Given the description of an element on the screen output the (x, y) to click on. 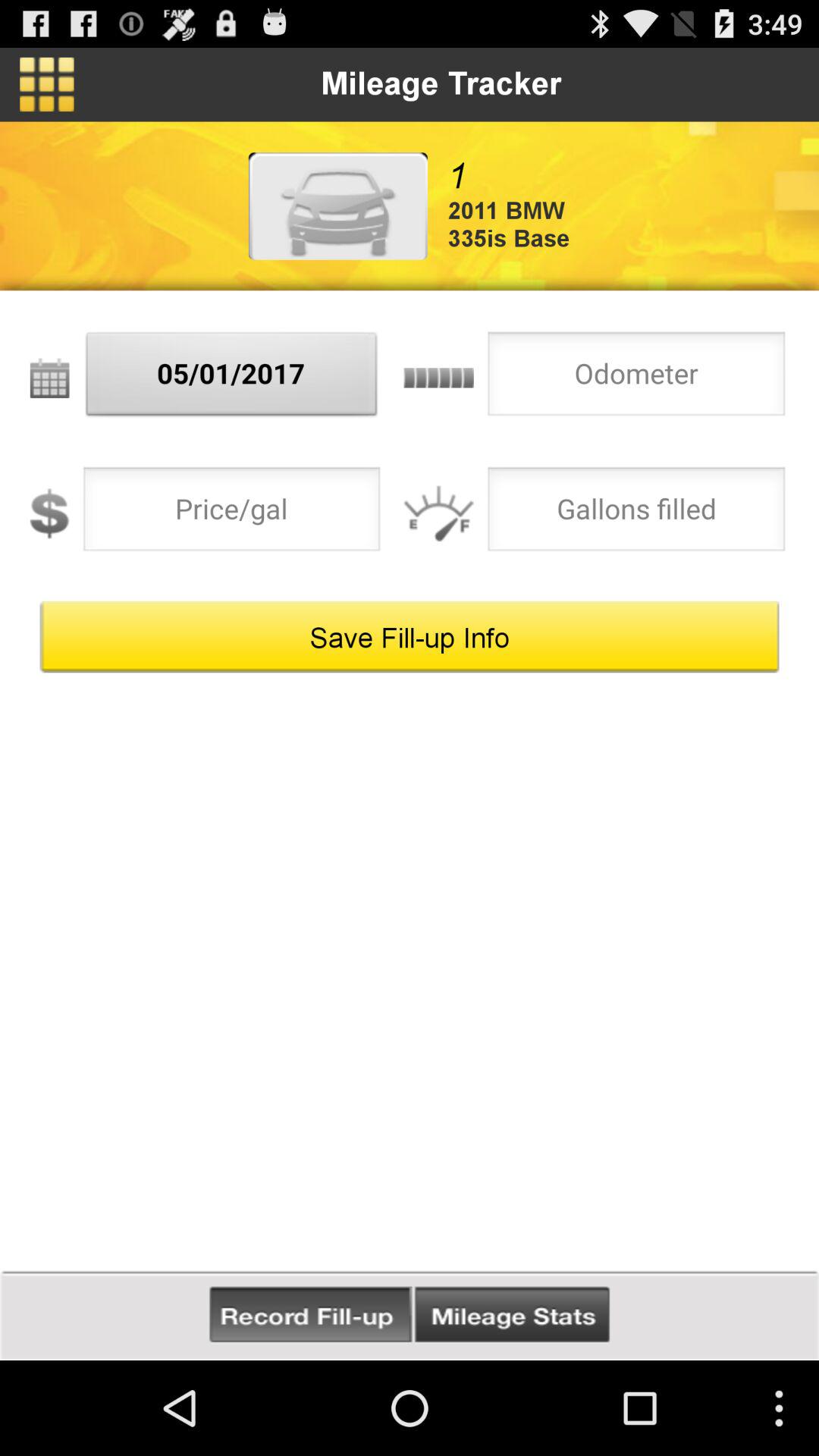
main menu (46, 84)
